Given the description of an element on the screen output the (x, y) to click on. 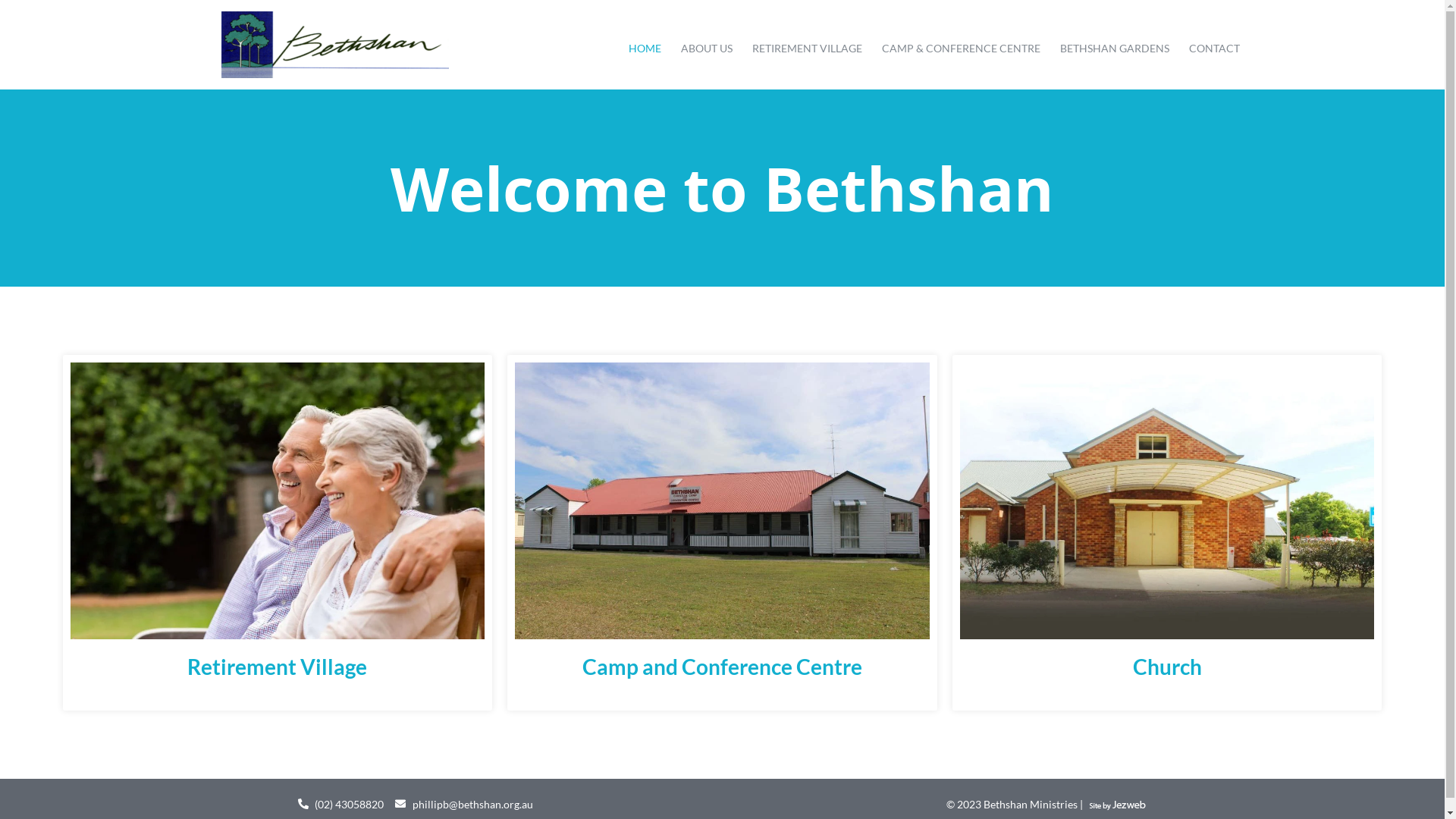
RETIREMENT VILLAGE Element type: text (806, 47)
BETHSHAN GARDENS Element type: text (1114, 47)
phillipb@bethshan.org.au Element type: text (464, 803)
ABOUT US Element type: text (706, 47)
Church-1 Element type: hover (1167, 500)
(02) 43058820 Element type: text (340, 803)
Camp and Conference Centre Element type: text (722, 667)
Retirement Village Element type: text (277, 667)
CONTACT Element type: text (1214, 47)
HOME Element type: text (644, 47)
camp and conference centre Element type: hover (721, 500)
CAMP & CONFERENCE CENTRE Element type: text (960, 47)
Church Element type: text (1166, 667)
